Given the description of an element on the screen output the (x, y) to click on. 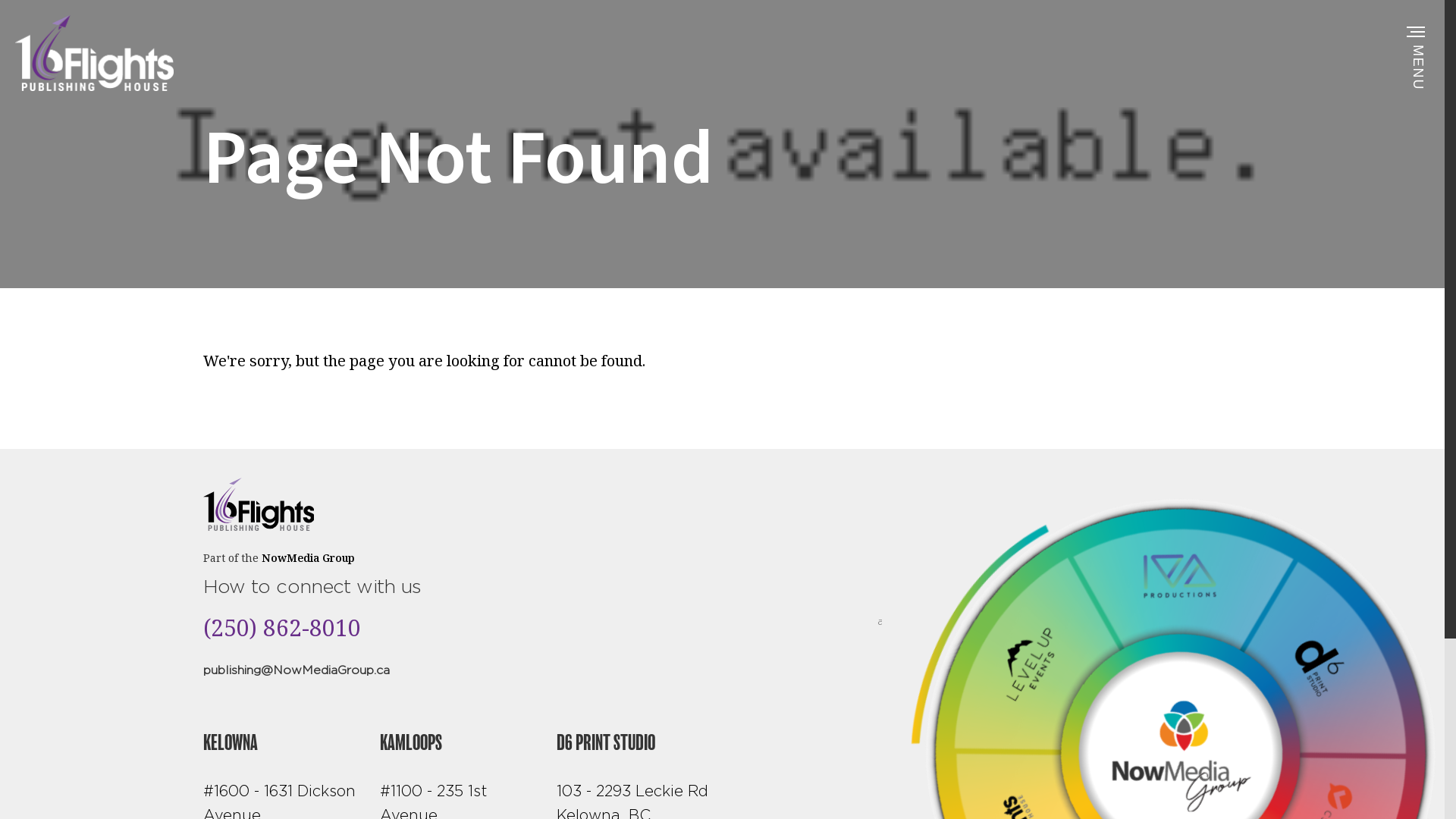
NowMedia Group Element type: text (307, 557)
(250) 862-8010 Element type: text (281, 627)
Visit Website Element type: text (834, 653)
publishing@NowMediaGroup.ca Element type: text (296, 669)
MENU Element type: text (1419, 24)
